Given the description of an element on the screen output the (x, y) to click on. 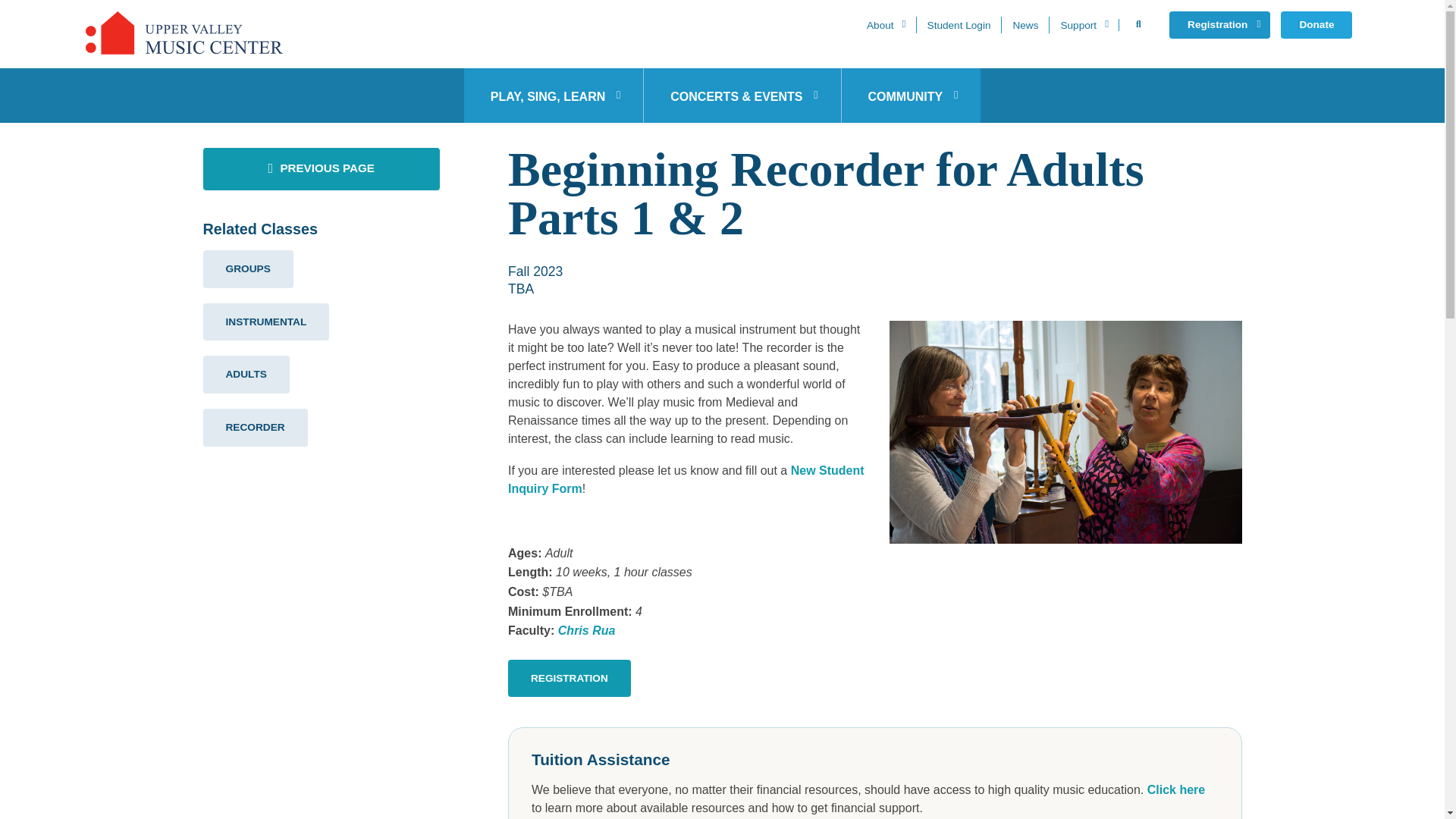
About (885, 24)
Student Login (958, 24)
Registration (1219, 24)
Support (1083, 24)
Donate (1316, 24)
News (1024, 24)
PLAY, SING, LEARN (553, 94)
Upper Valley Music Center (183, 32)
